Given the description of an element on the screen output the (x, y) to click on. 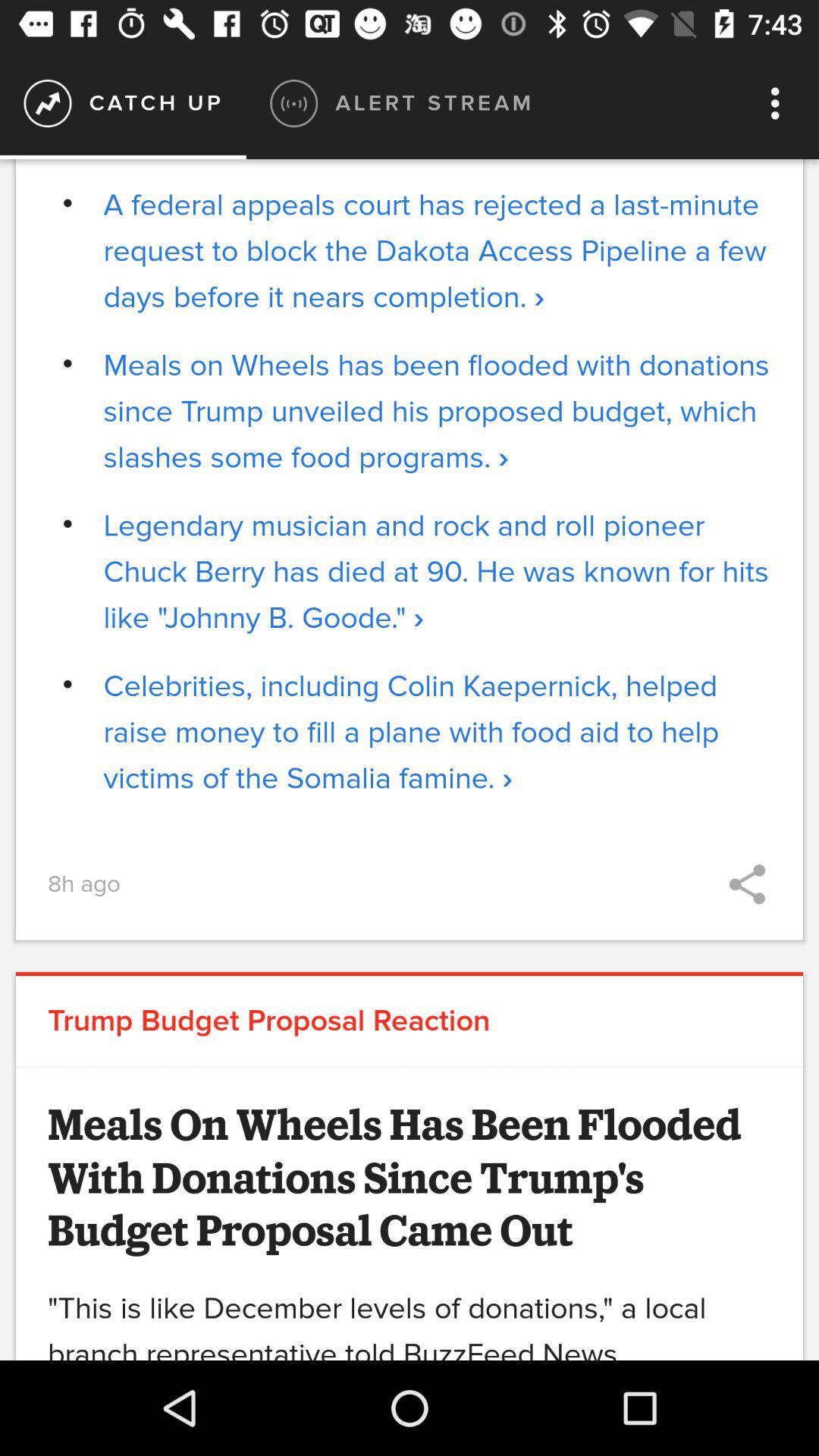
click icon to the right of 8h ago icon (747, 884)
